Given the description of an element on the screen output the (x, y) to click on. 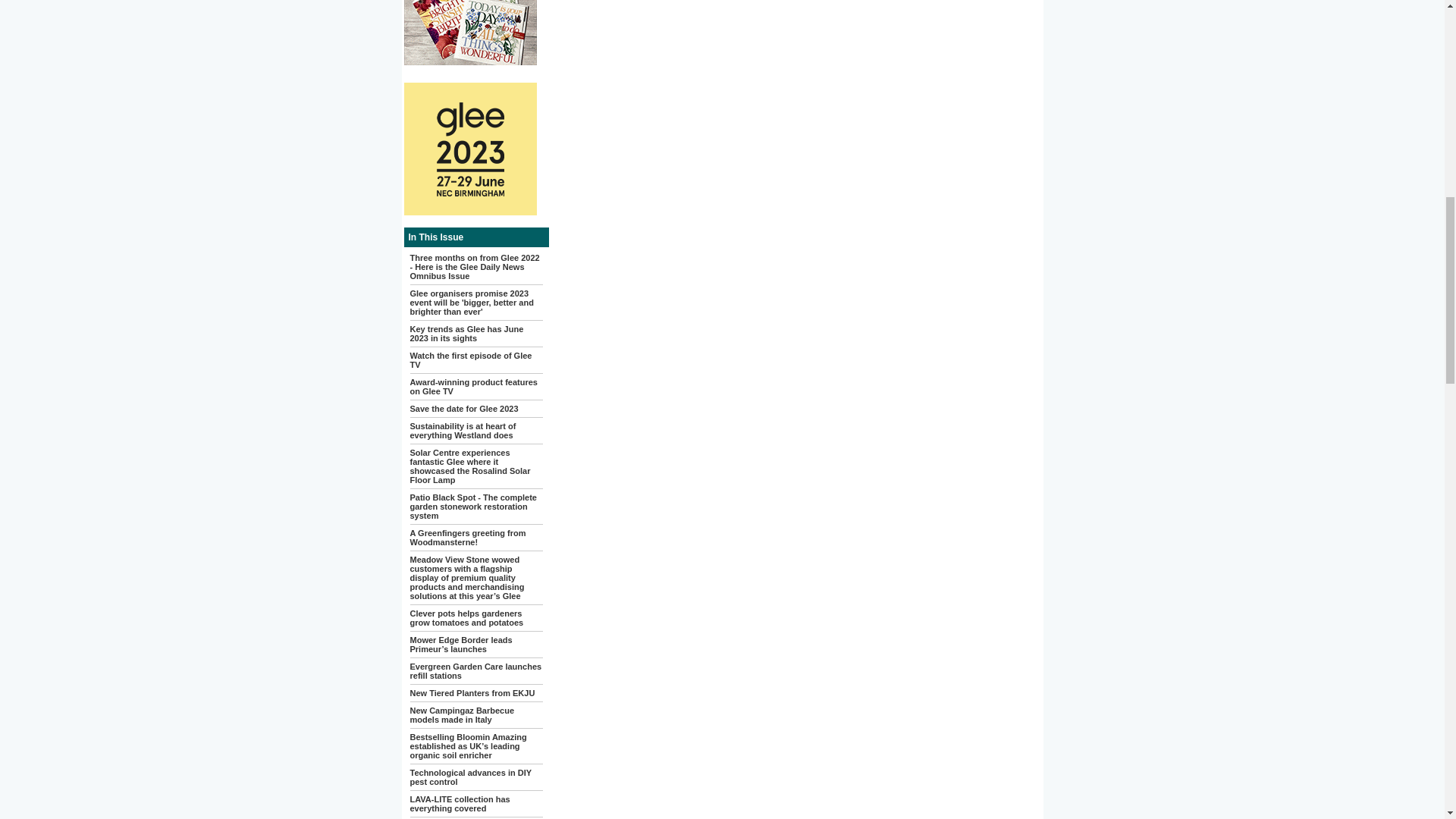
A Greenfingers greeting from Woodmansterne! (467, 536)
Key trends as Glee has June 2023 in its sights (465, 333)
New Campingaz Barbecue models made in Italy (461, 714)
Clever pots helps gardeners grow tomatoes and potatoes (465, 617)
Sustainability is at heart of everything Westland does (462, 430)
LAVA-LITE collection has everything covered (459, 803)
Watch the first episode of Glee TV (470, 359)
Evergreen Garden Care launches refill stations (475, 669)
